Given the description of an element on the screen output the (x, y) to click on. 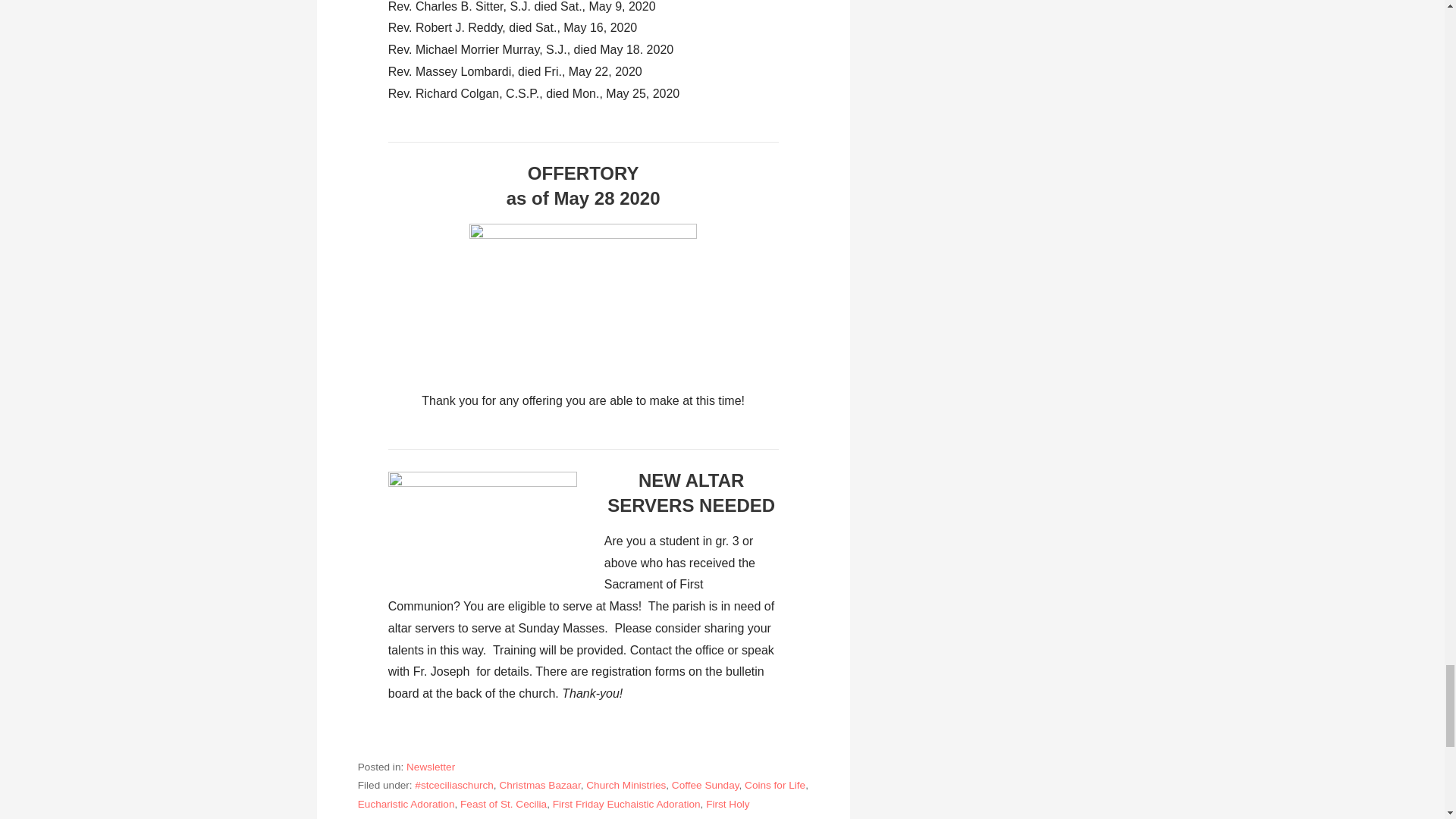
First Holy Communion (553, 808)
Church Ministries (625, 785)
Christmas Bazaar (539, 785)
Coins for Life (774, 785)
First Friday Euchaistic Adoration (626, 803)
Coffee Sunday (705, 785)
Eucharistic Adoration (406, 803)
Newsletter (430, 767)
Feast of St. Cecilia (503, 803)
